Given the description of an element on the screen output the (x, y) to click on. 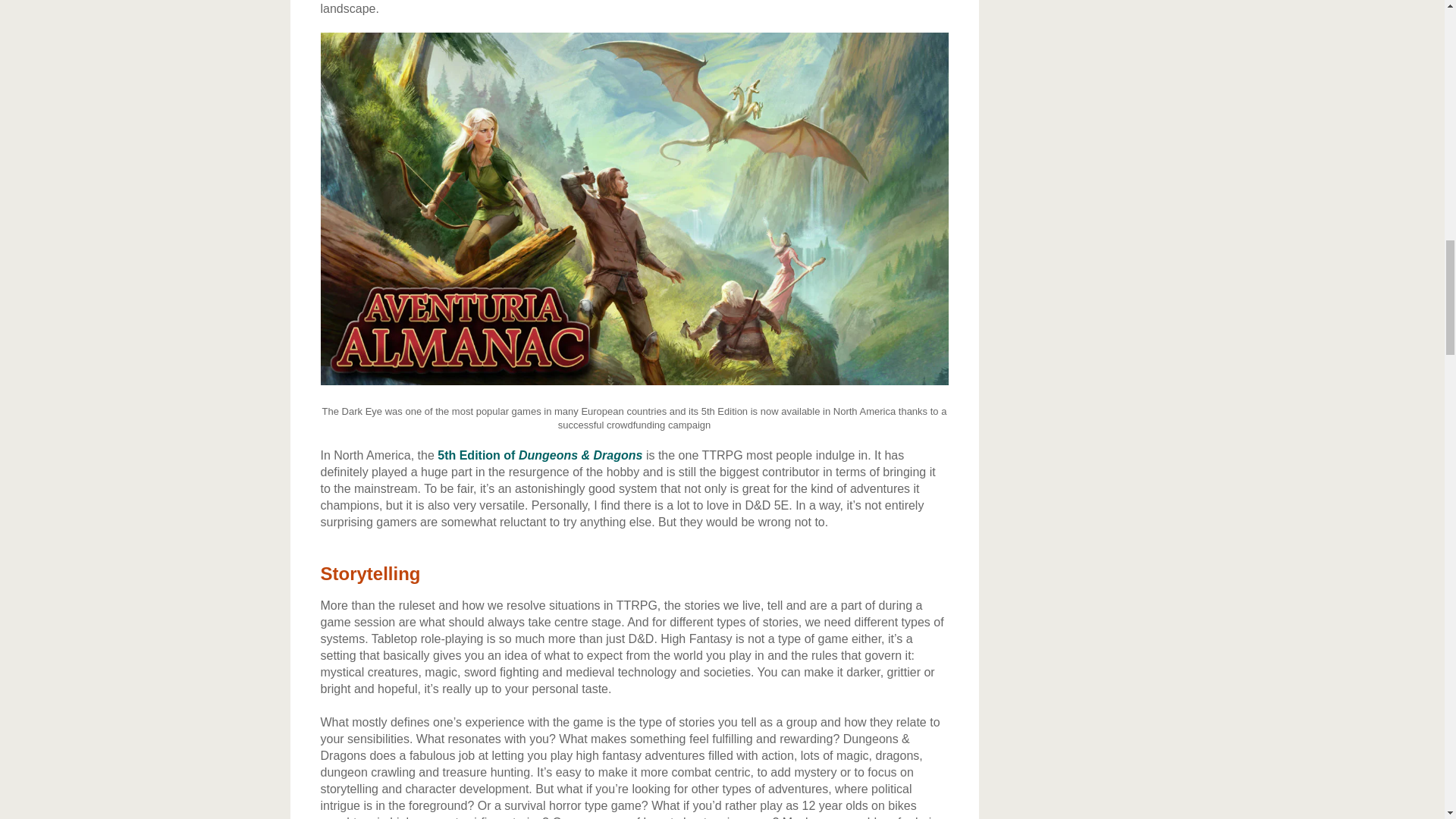
The Dark Eye (633, 380)
